Given the description of an element on the screen output the (x, y) to click on. 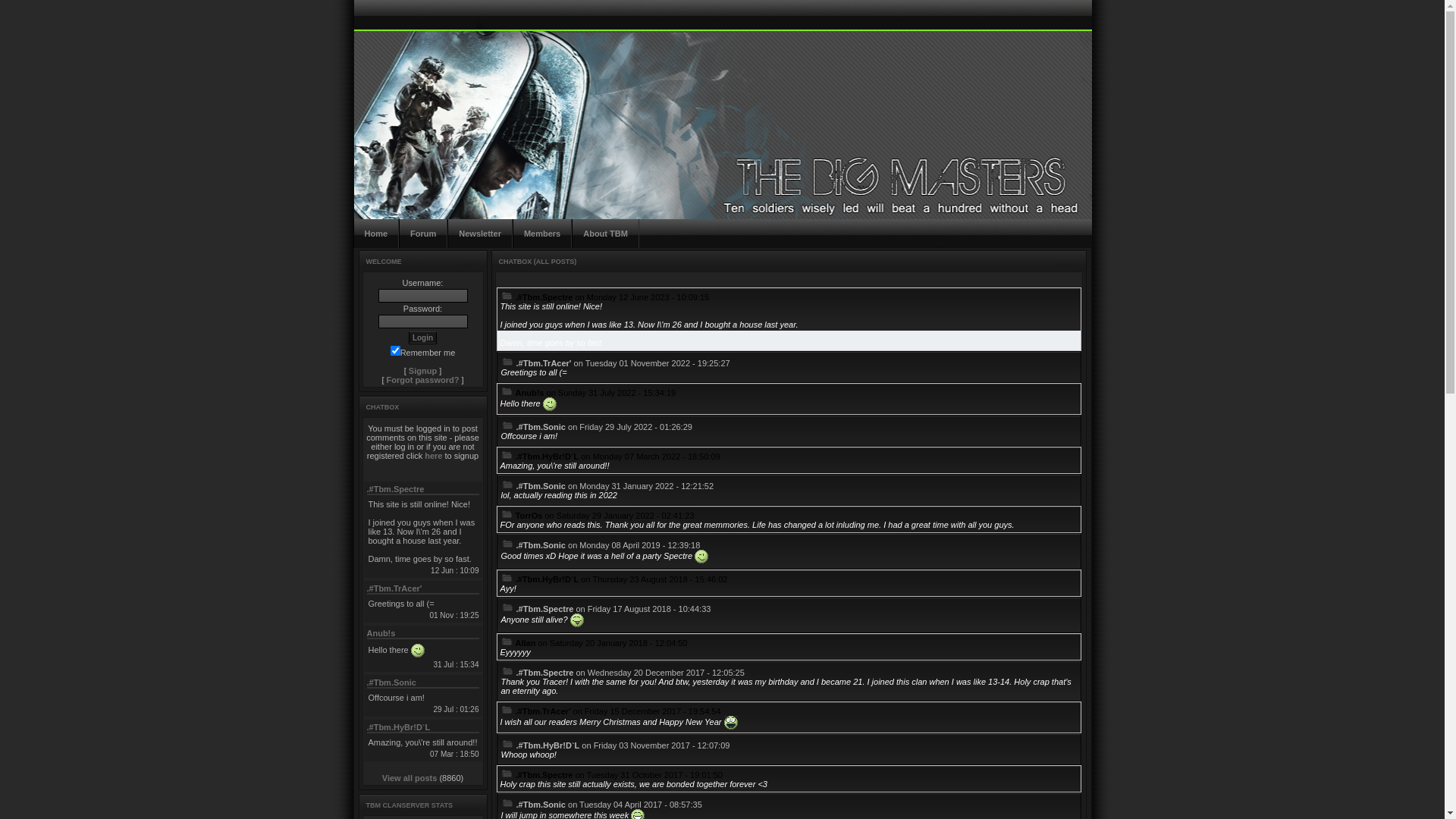
About TBM Element type: text (605, 233)
.#Tbm.Sonic Element type: text (391, 682)
Anub!s Element type: text (381, 632)
Newsletter Element type: text (479, 233)
Members Element type: text (541, 233)
Forgot password? Element type: text (422, 379)
View all posts Element type: text (409, 777)
Home Element type: text (376, 233)
.#Tbm.Spectre Element type: text (395, 488)
Login Element type: text (422, 337)
Forum Element type: text (422, 233)
.#Tbm.TrAcer' Element type: text (394, 588)
.#Tbm.HyBr!D`L Element type: text (398, 726)
Signup Element type: text (422, 370)
here Element type: text (433, 455)
